Given the description of an element on the screen output the (x, y) to click on. 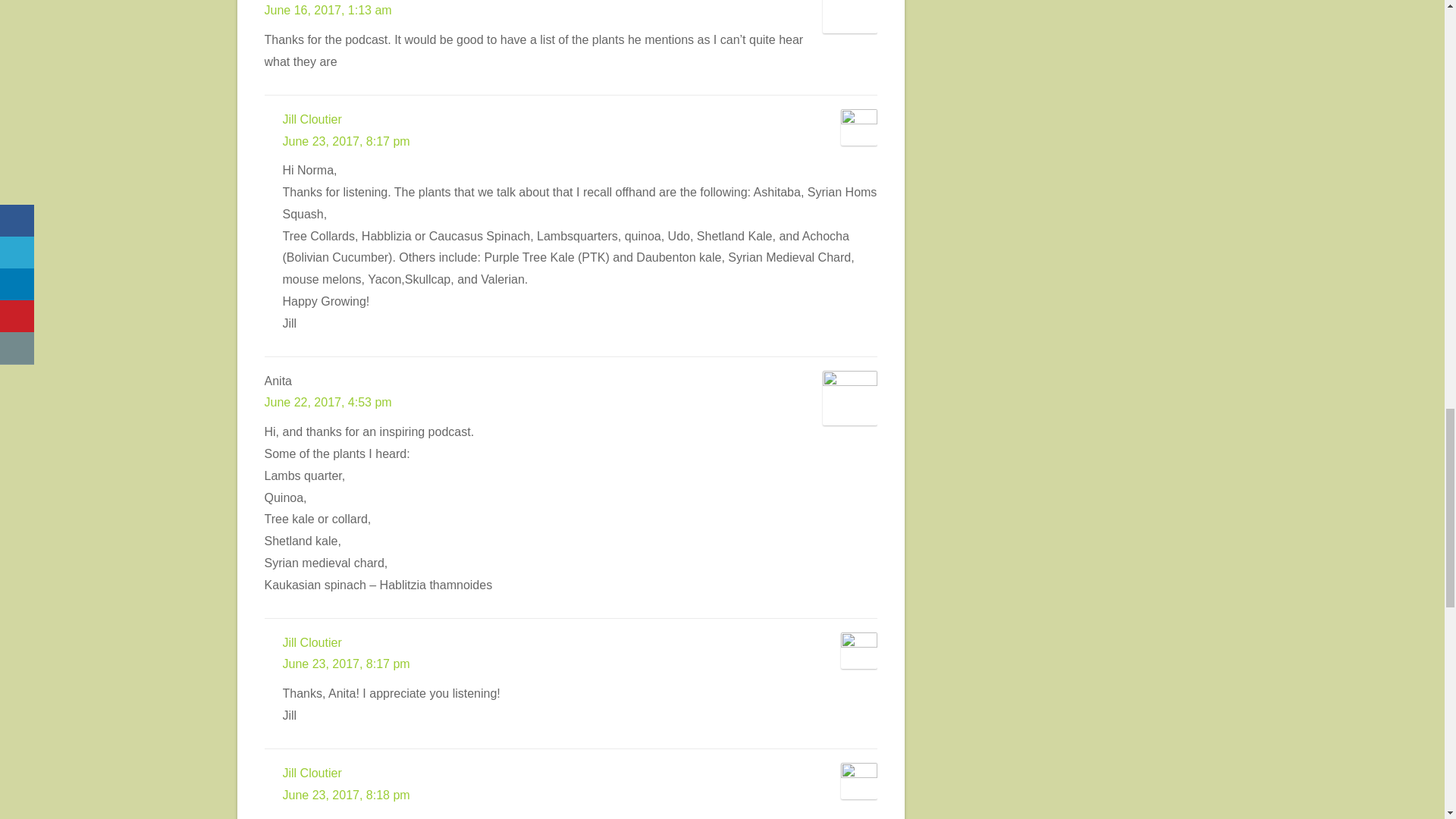
June 22, 2017, 4:53 pm (327, 401)
Jill Cloutier (311, 119)
June 23, 2017, 8:17 pm (345, 663)
Jill Cloutier (311, 642)
June 23, 2017, 8:17 pm (345, 141)
Jill Cloutier (311, 772)
June 16, 2017, 1:13 am (327, 10)
